Given the description of an element on the screen output the (x, y) to click on. 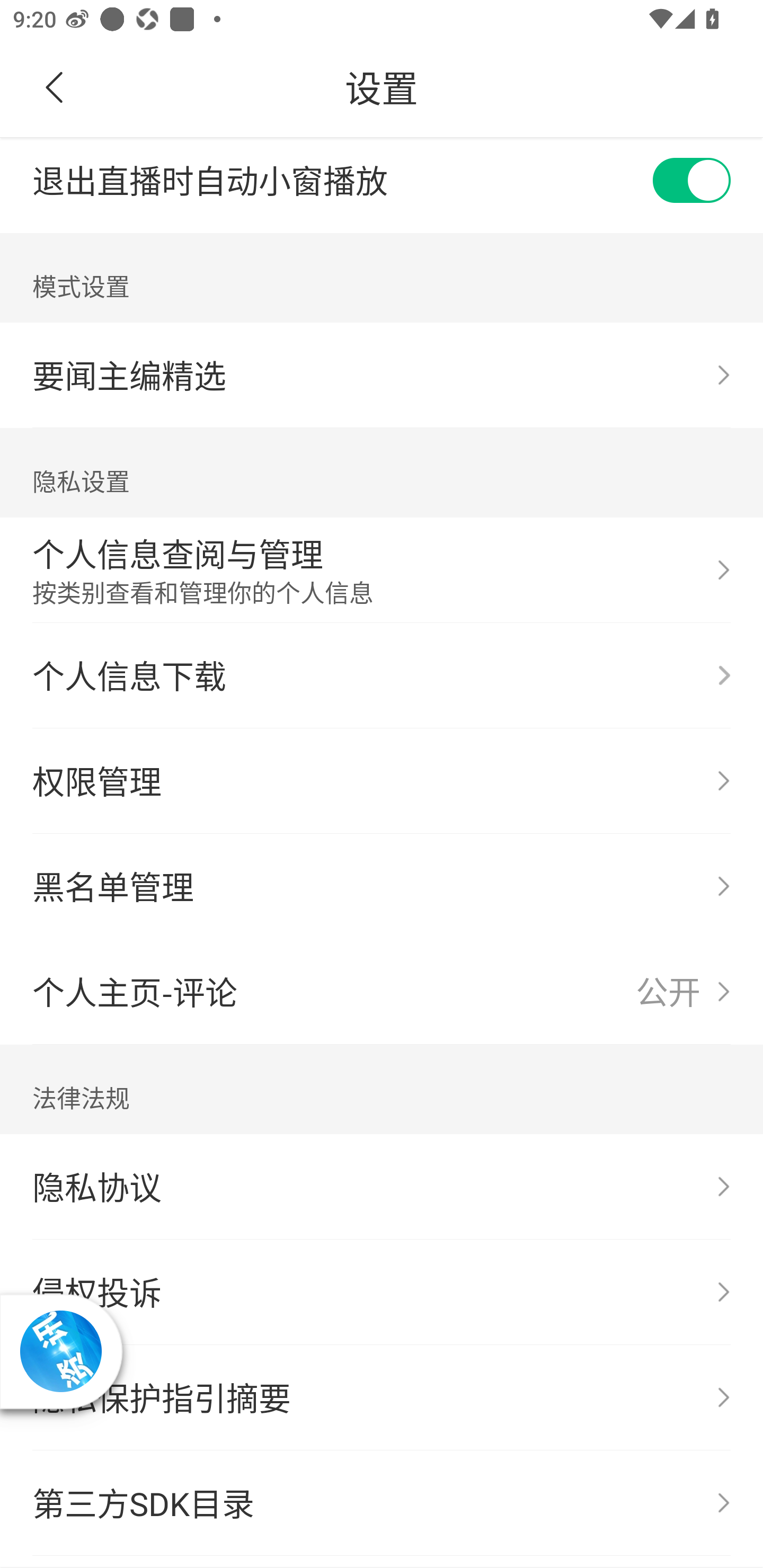
 返回 (54, 87)
退出直播时自动小窗播放 (381, 185)
要闻主编精选 (381, 375)
个人信息查阅与管理 按类别查看和管理你的个人信息 (381, 569)
个人信息下载 (381, 675)
权限管理 (381, 781)
黑名单管理 (381, 886)
个人主页-评论 公开 (381, 991)
隐私协议 (381, 1186)
侵权投诉 (381, 1292)
播放器 (60, 1351)
隐私保护指引摘要 (381, 1397)
第三方SDK目录 (381, 1502)
